Given the description of an element on the screen output the (x, y) to click on. 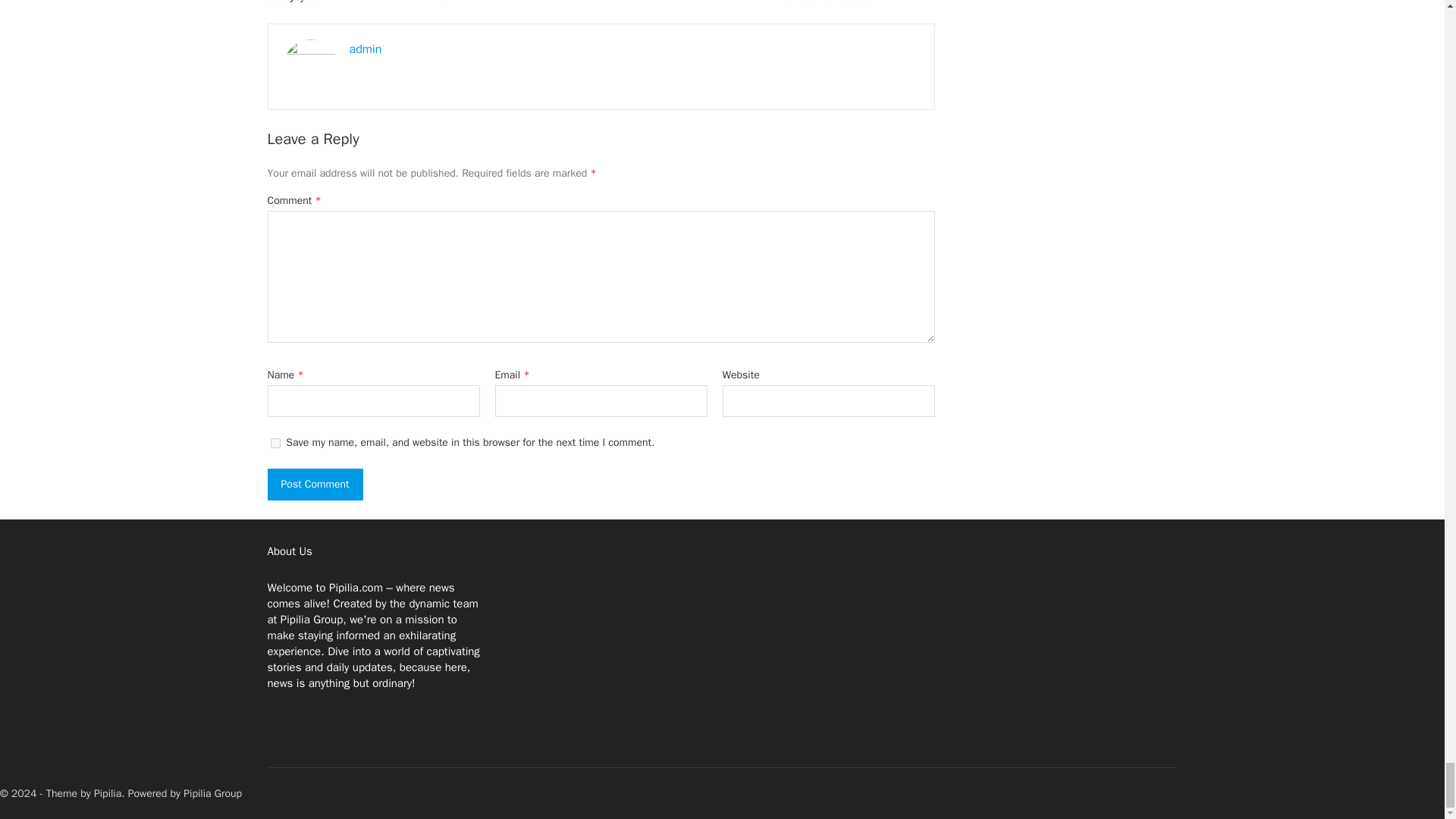
Post Comment (314, 483)
Post Comment (314, 483)
yes (274, 442)
admin (365, 48)
